Given the description of an element on the screen output the (x, y) to click on. 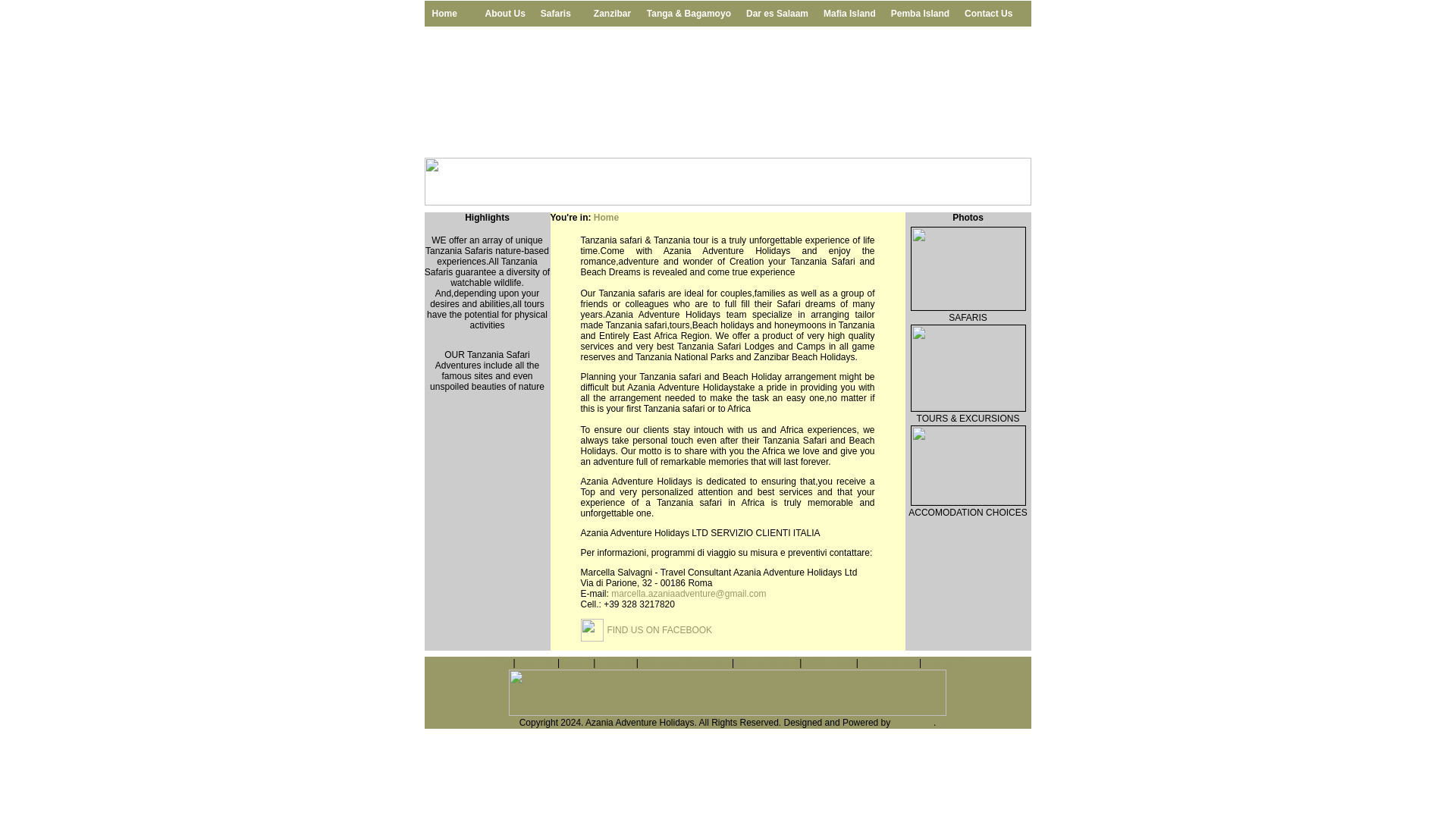
Contact Us (945, 662)
Home (451, 13)
Contact Us (988, 13)
Zanzibar (615, 662)
Zanzibar (612, 13)
WISENET (913, 722)
Home (606, 217)
Mafia Island (829, 662)
About Us (504, 13)
Safaris (559, 13)
